Given the description of an element on the screen output the (x, y) to click on. 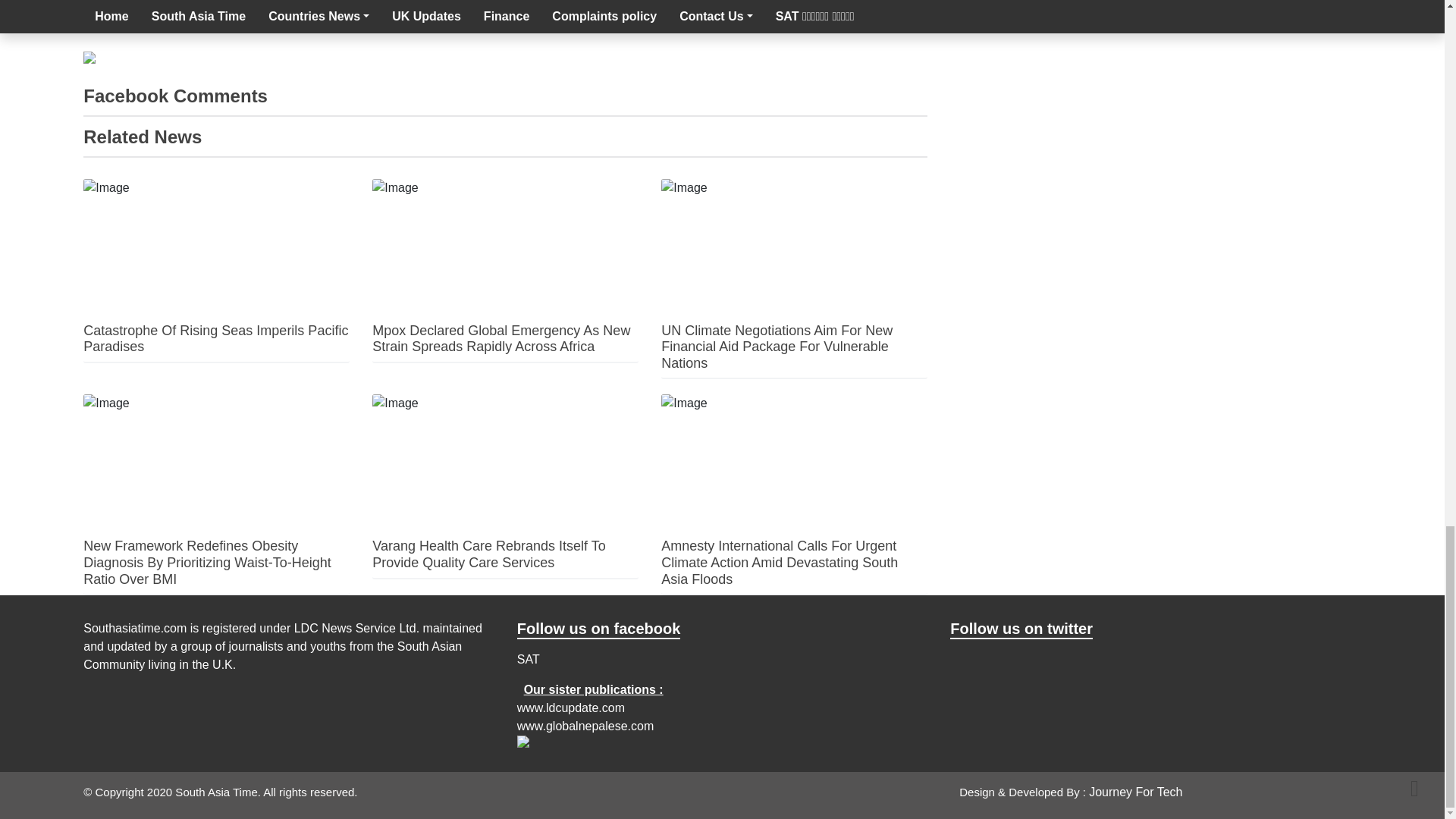
Related News (142, 136)
Catastrophe Of Rising Seas Imperils Pacific Paradises (214, 338)
Facebook Comments (174, 95)
